Given the description of an element on the screen output the (x, y) to click on. 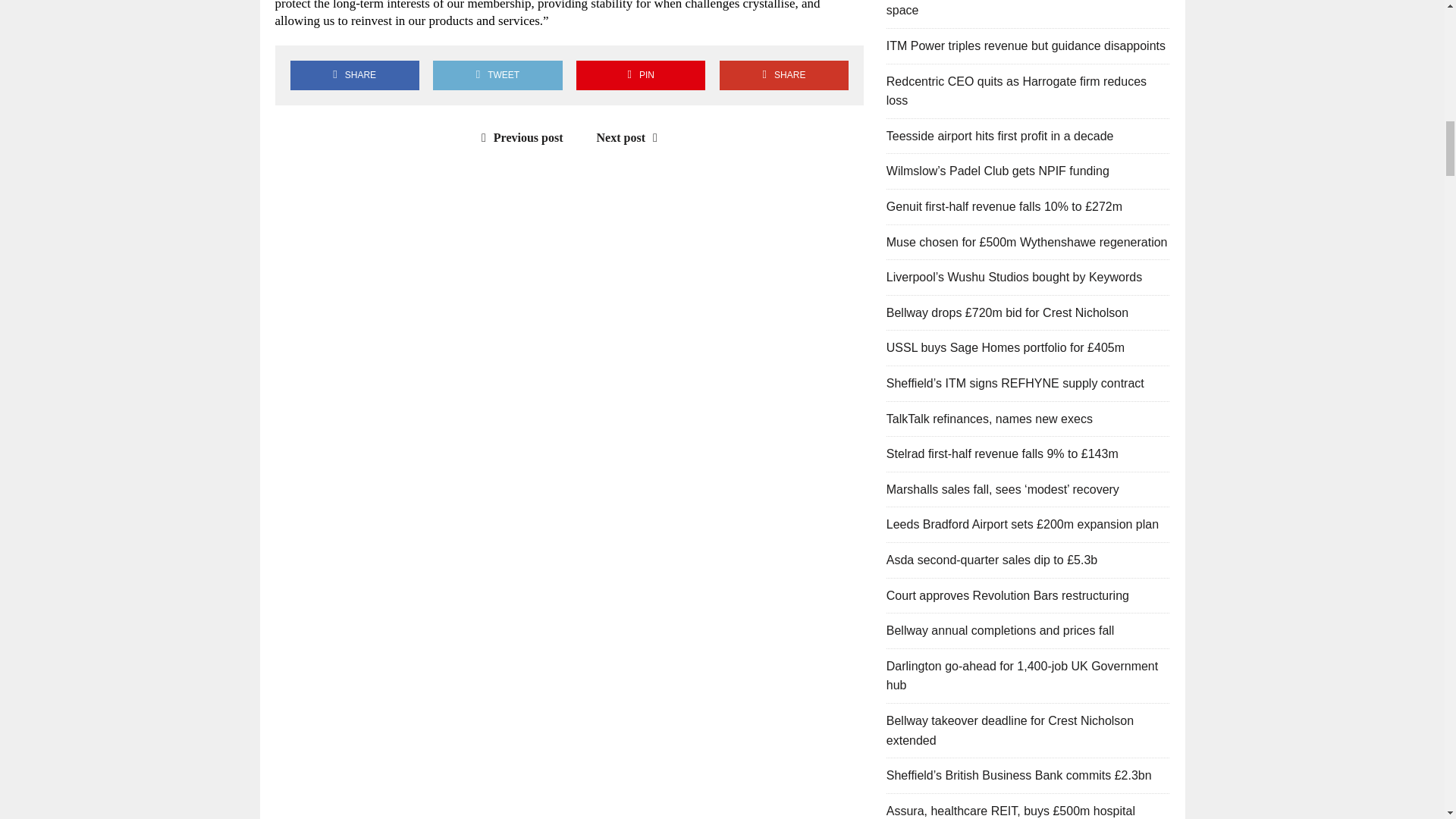
Next post (630, 137)
TWEET (497, 75)
PIN (640, 75)
SHARE (783, 75)
Tweet This Post (497, 75)
SHARE (354, 75)
Previous post (518, 137)
Share on Facebook (354, 75)
Pin This Post (640, 75)
